Given the description of an element on the screen output the (x, y) to click on. 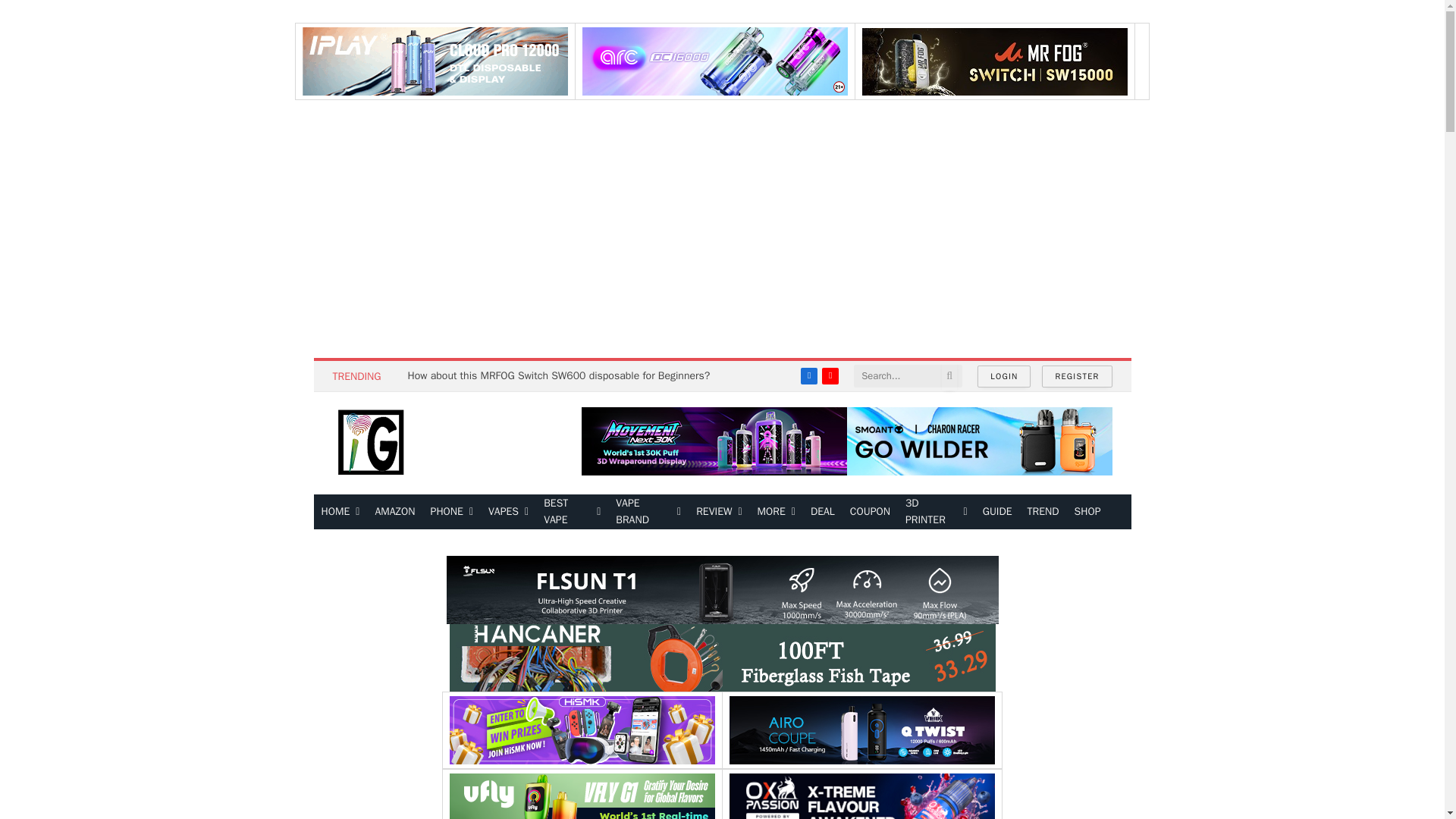
YouTube (830, 375)
REGISTER (1077, 376)
HOME (341, 511)
Facebook (808, 375)
How about this MRFOG Switch SW600 disposable for Beginners? (562, 376)
LOGIN (1003, 376)
AMAZON (394, 511)
PHONE (451, 511)
